Given the description of an element on the screen output the (x, y) to click on. 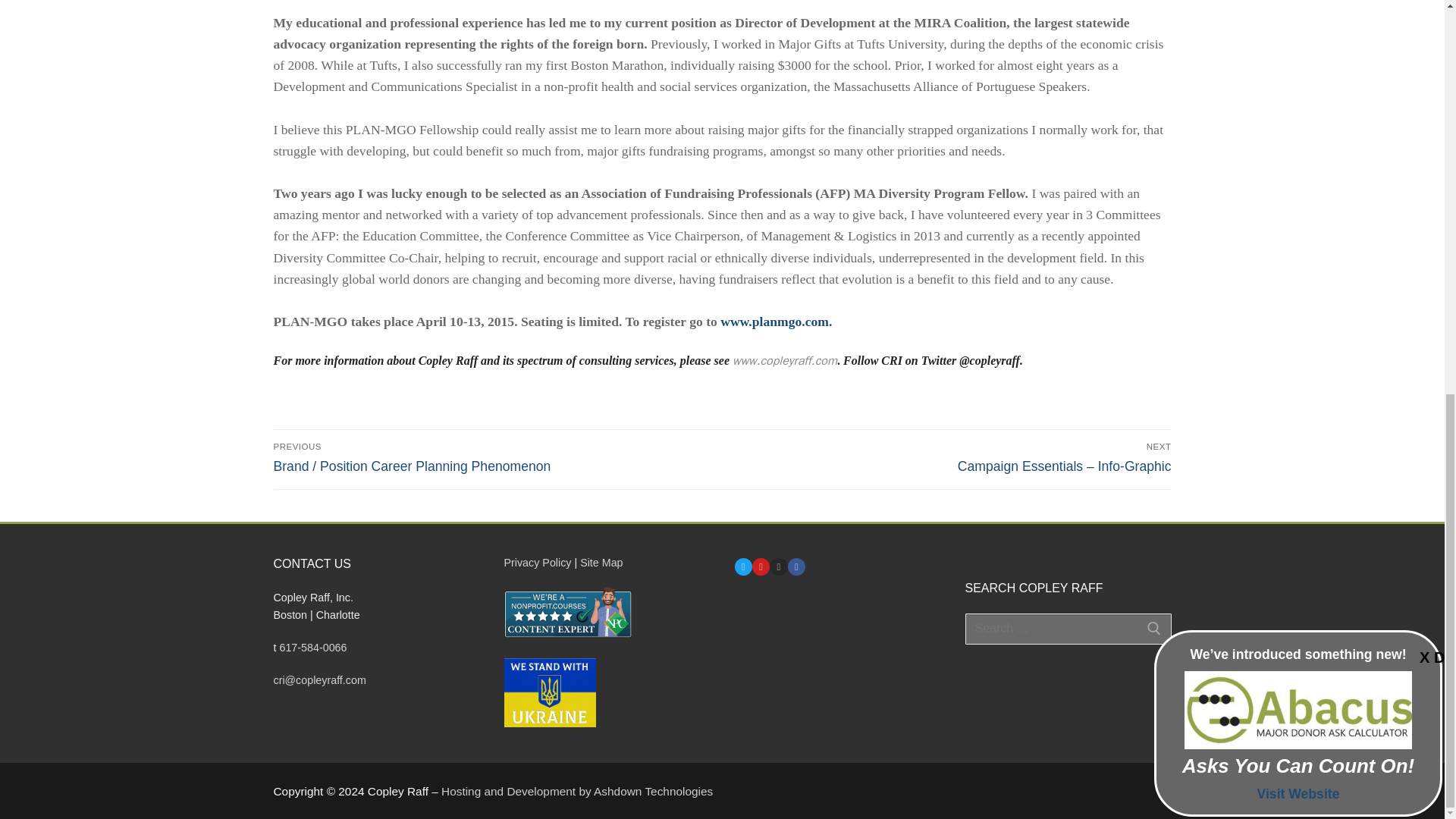
Twitter (743, 566)
Instagram (778, 566)
Facebook (797, 566)
Search for: (1066, 629)
Youtube (760, 566)
